Given the description of an element on the screen output the (x, y) to click on. 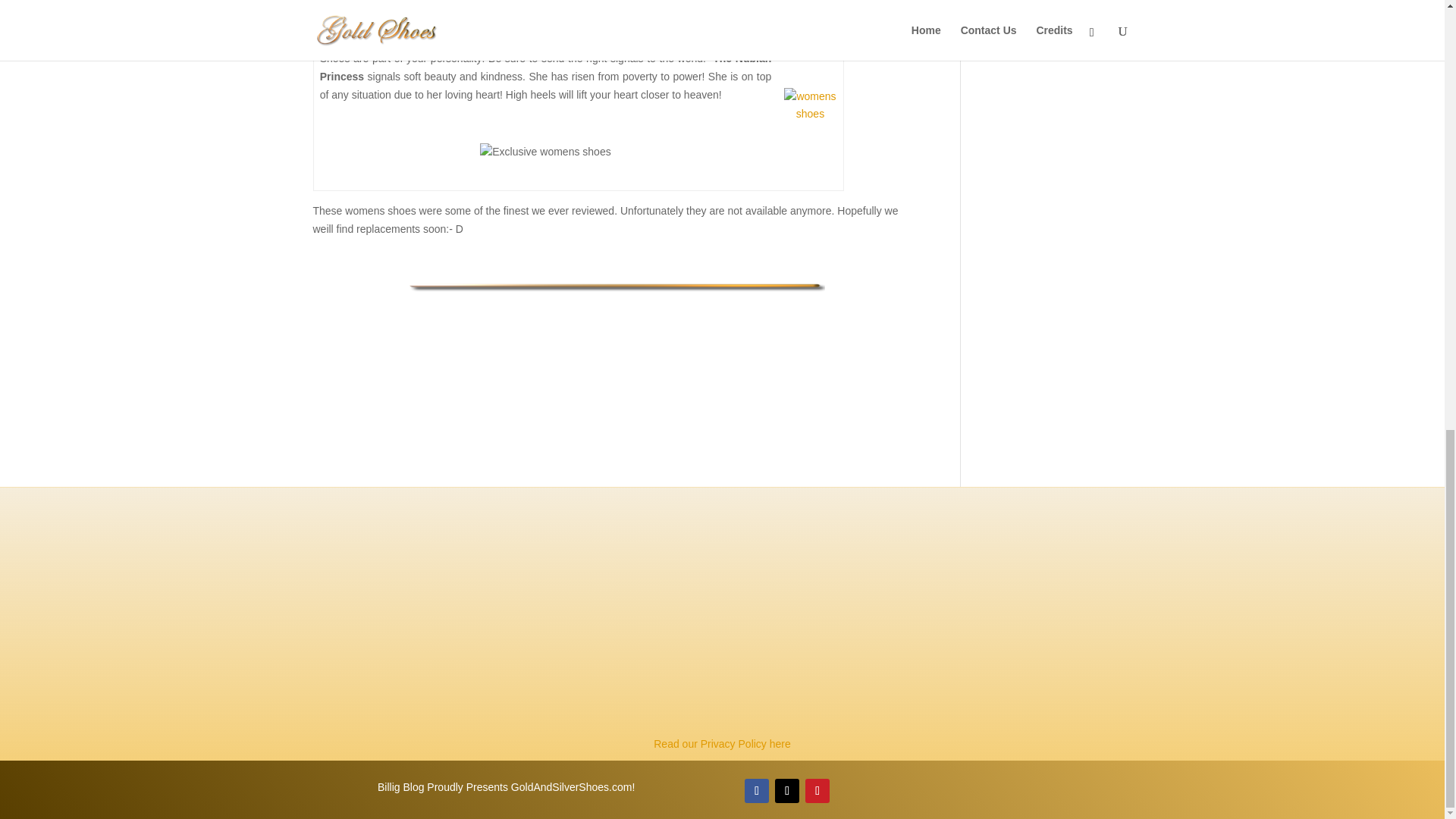
Follow on  (847, 790)
s2 (810, 105)
Read our Privacy Policy here (721, 743)
Follow on X (786, 790)
Follow on Pinterest (817, 790)
Follow on Facebook (756, 790)
